Given the description of an element on the screen output the (x, y) to click on. 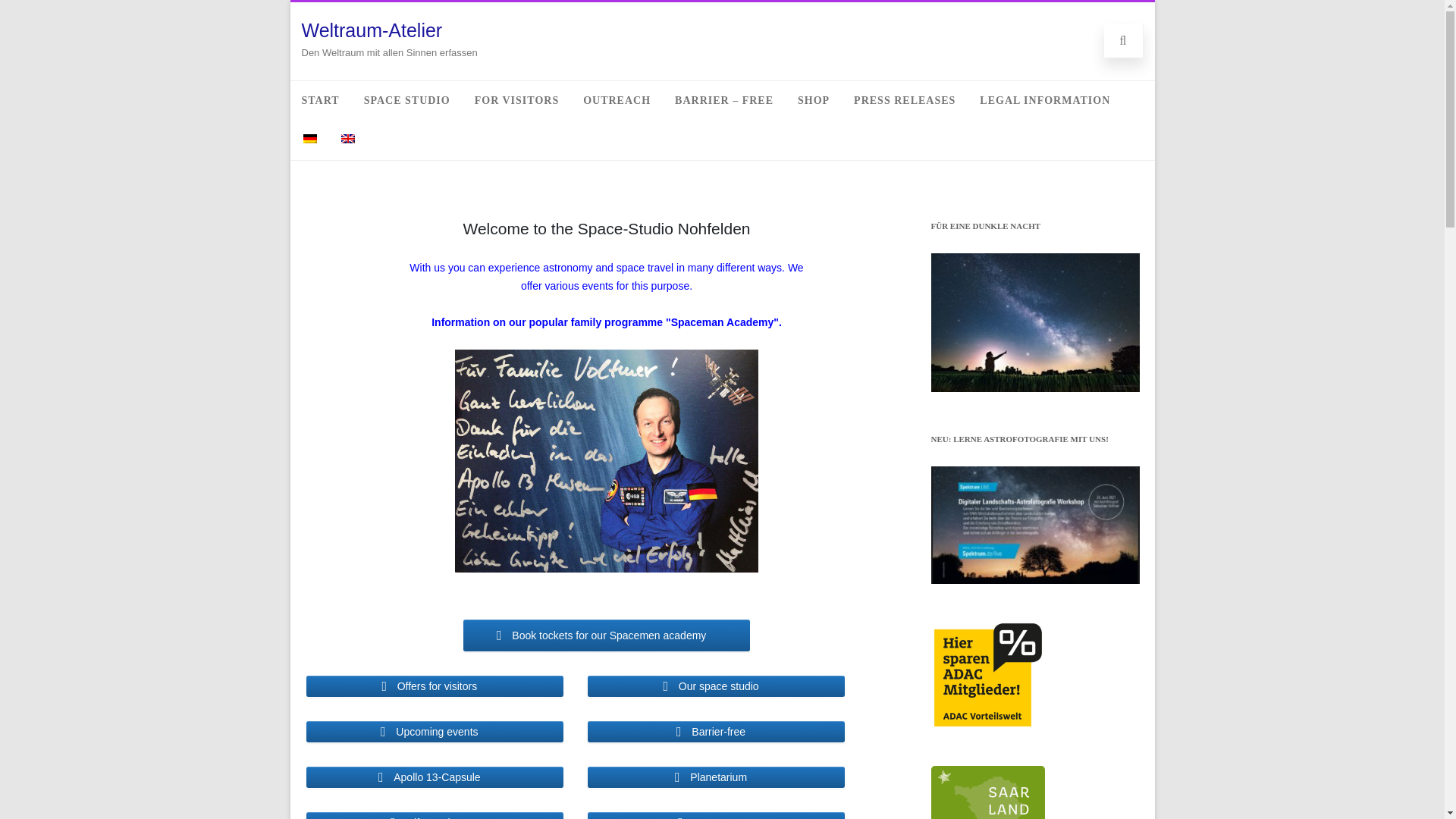
START (319, 100)
NEU: Lerne Astrofotografie mit uns! (1035, 524)
LEGAL INFORMATION (1044, 100)
SHOP (813, 100)
SPACE STUDIO (406, 100)
OUTREACH (617, 100)
FOR VISITORS (516, 100)
Weltraum-Atelier (371, 29)
PRESS RELEASES (904, 100)
Weltraum-Atelier (371, 29)
